Given the description of an element on the screen output the (x, y) to click on. 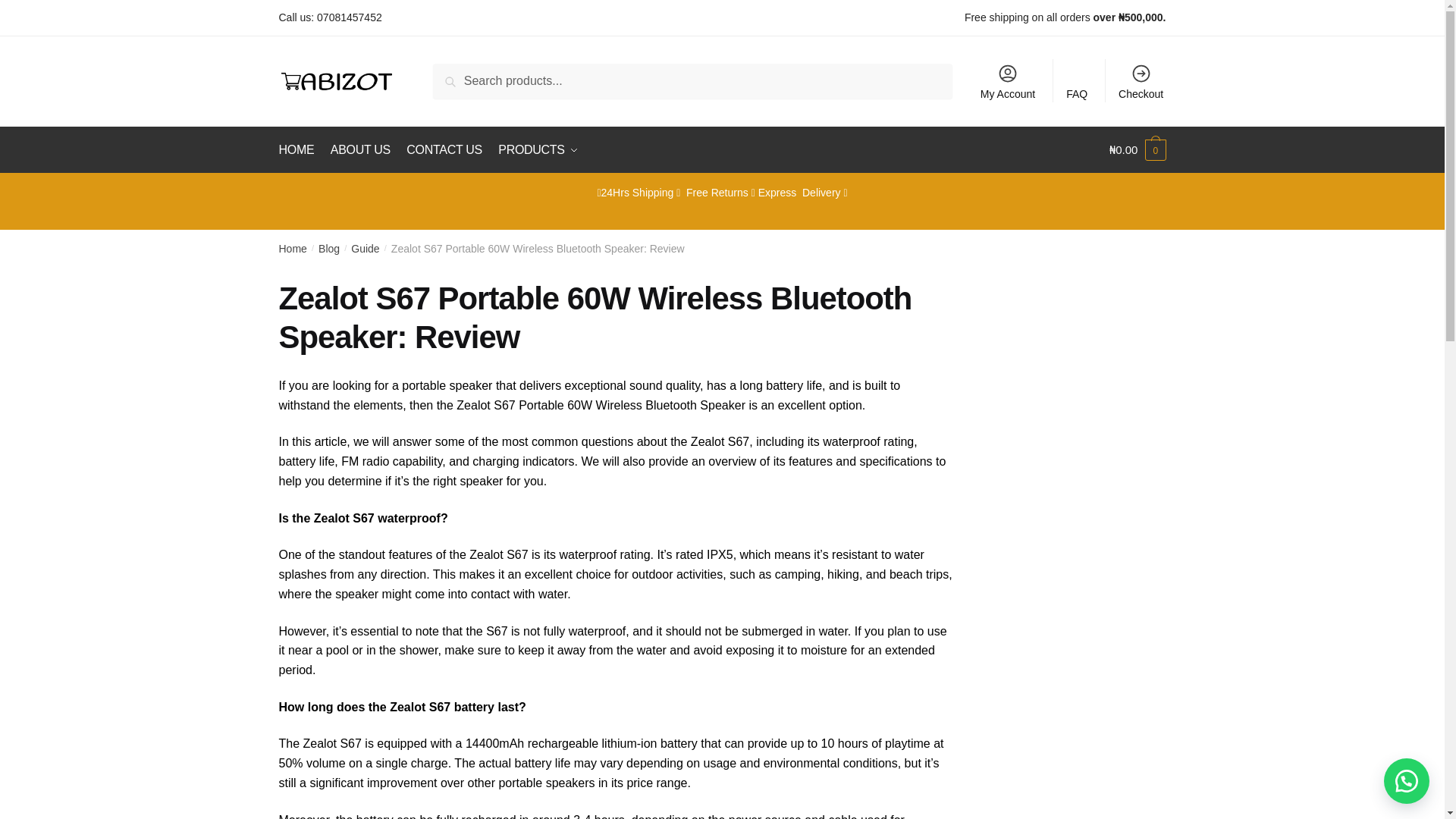
PRODUCTS (537, 149)
My Account (1008, 80)
HOME (299, 149)
View your shopping cart (1137, 149)
Search (470, 80)
ABOUT US (360, 149)
CONTACT US (443, 149)
FAQ (1077, 80)
Checkout (1141, 80)
